Given the description of an element on the screen output the (x, y) to click on. 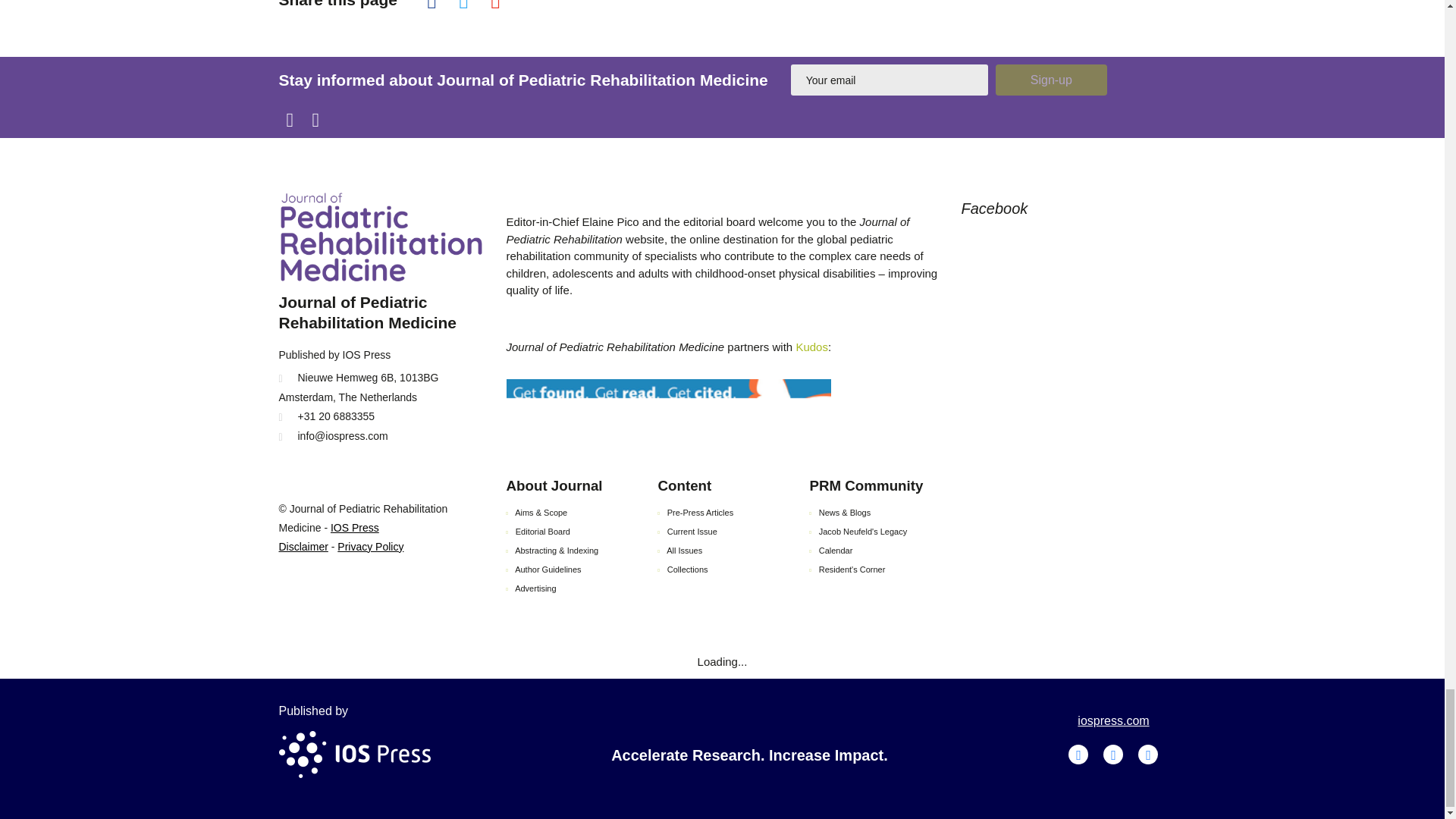
Privacy Policy (370, 546)
Sign-up (1050, 79)
Home (381, 240)
